Given the description of an element on the screen output the (x, y) to click on. 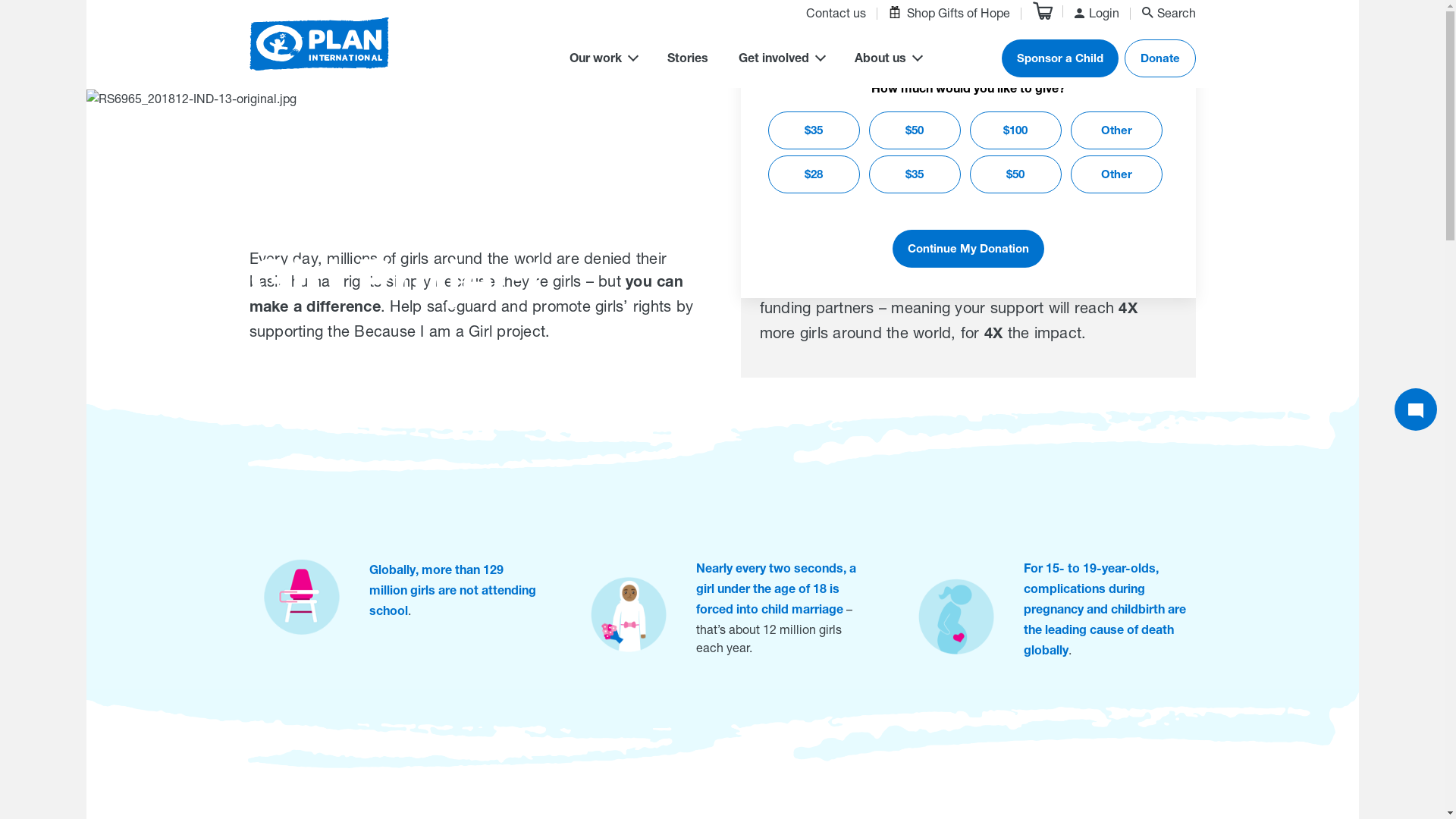
Shop Gifts of Hope Element type: text (949, 13)
Donate Element type: text (1159, 58)
Stories Element type: text (687, 60)
About us Element type: text (886, 60)
Our work Element type: text (602, 60)
Sponsor a Child Element type: text (1059, 58)
Contact us Element type: text (835, 15)
Get involved Element type: text (781, 60)
Continue My Donation Element type: text (967, 248)
